Given the description of an element on the screen output the (x, y) to click on. 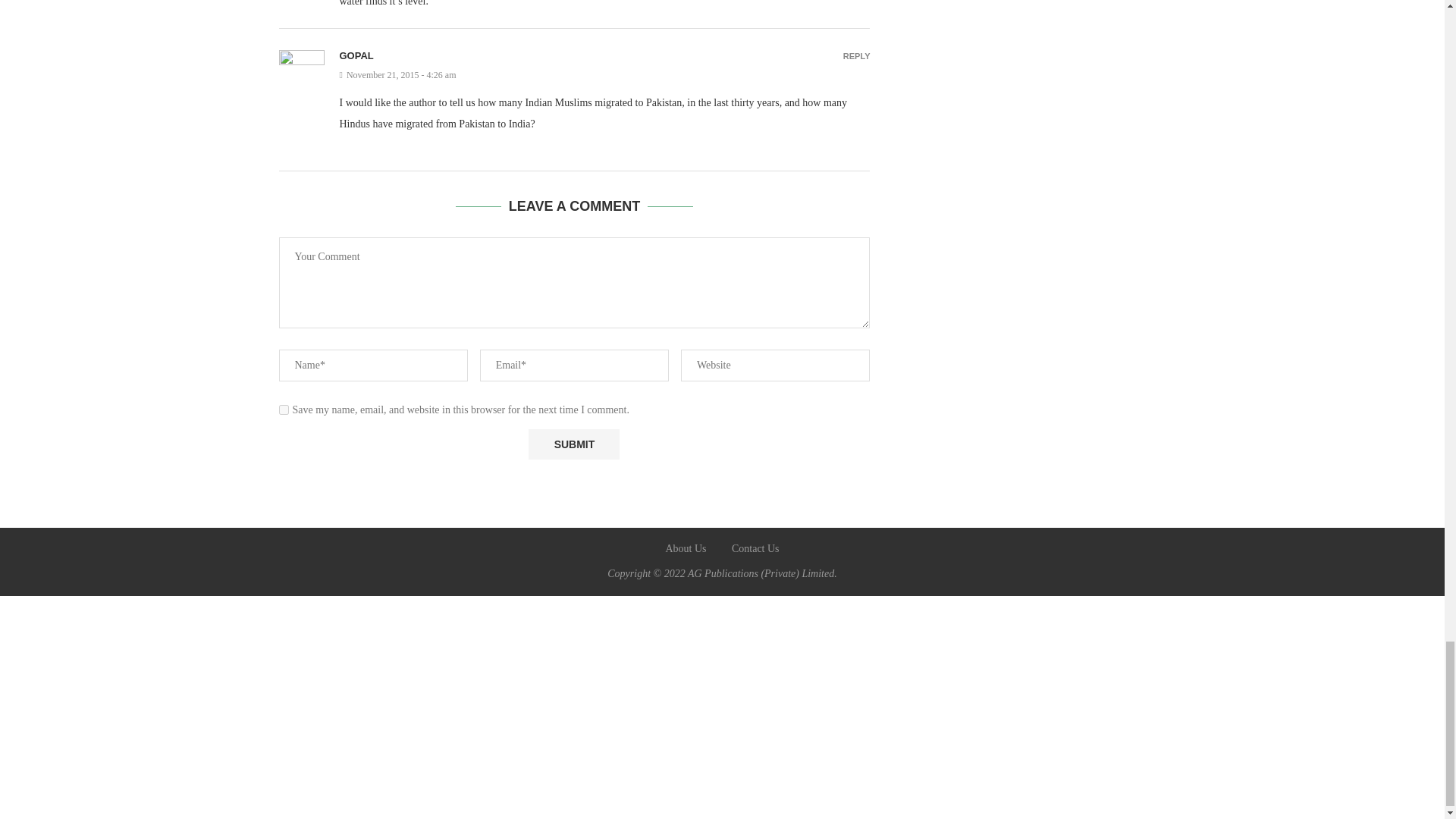
yes (283, 409)
Submit (574, 444)
Saturday, November 21, 2015, 4:26 am (604, 75)
